Given the description of an element on the screen output the (x, y) to click on. 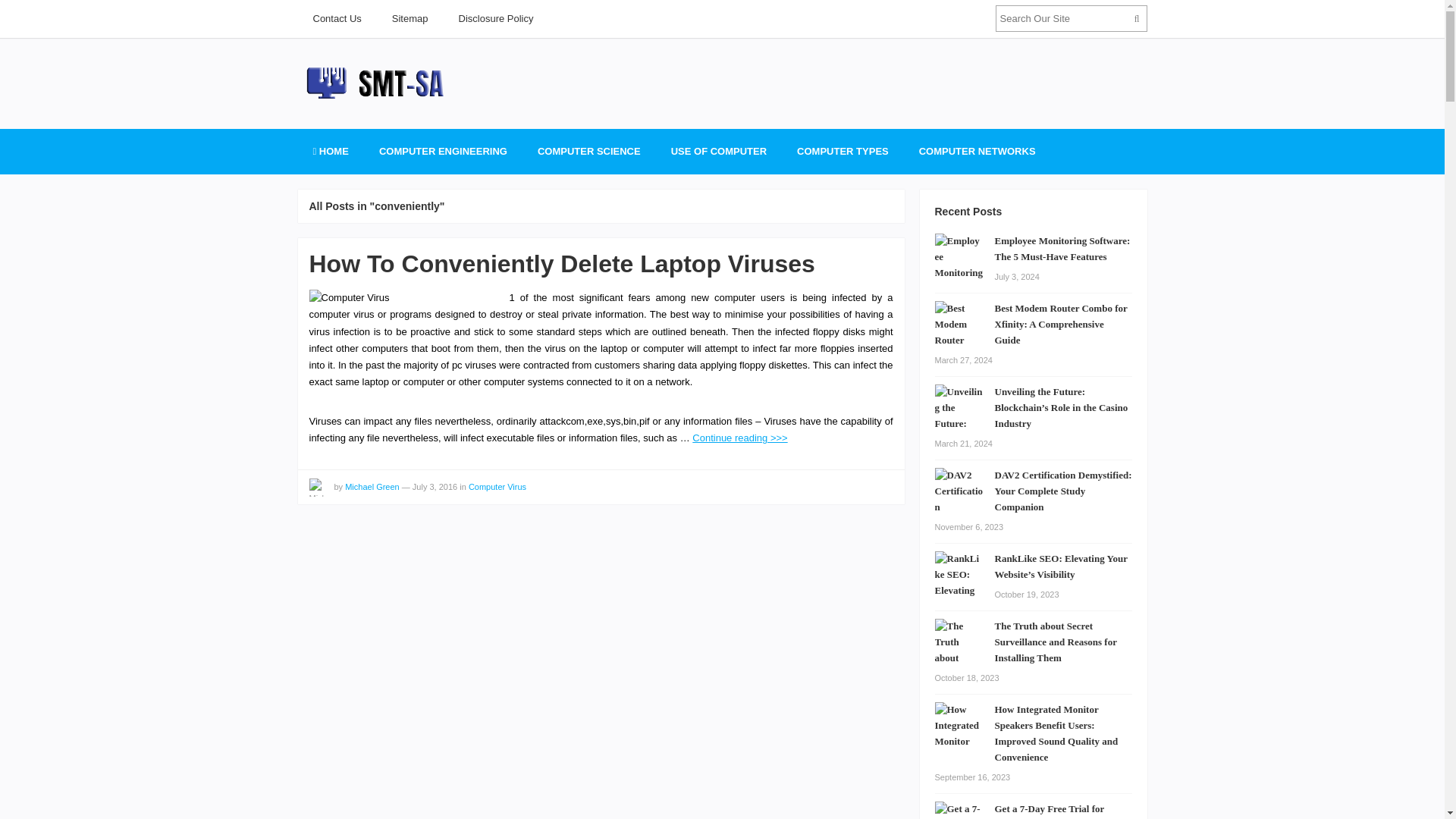
Disclosure Policy (496, 18)
View all posts by Michael Green (317, 487)
HOME (329, 151)
USE OF COMPUTER (718, 151)
Contact Us (336, 18)
Sitemap (410, 18)
COMPUTER ENGINEERING (443, 151)
COMPUTER TYPES (842, 151)
COMPUTER SCIENCE (589, 151)
